Given the description of an element on the screen output the (x, y) to click on. 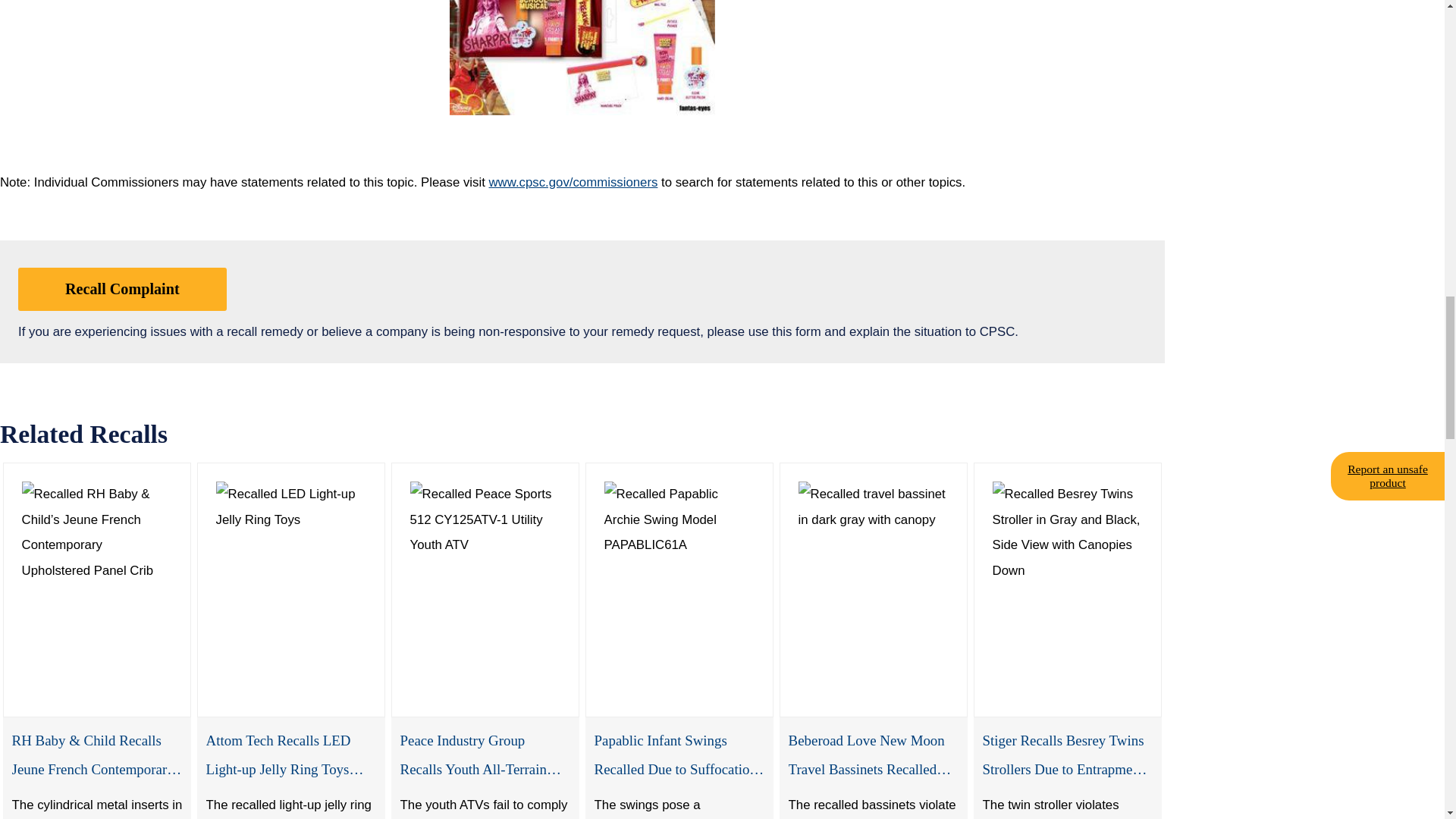
Report Recall Complaint (122, 288)
Recall Complaint (122, 288)
Picture of Recalled High School Musical Manicure Kit (581, 57)
